Given the description of an element on the screen output the (x, y) to click on. 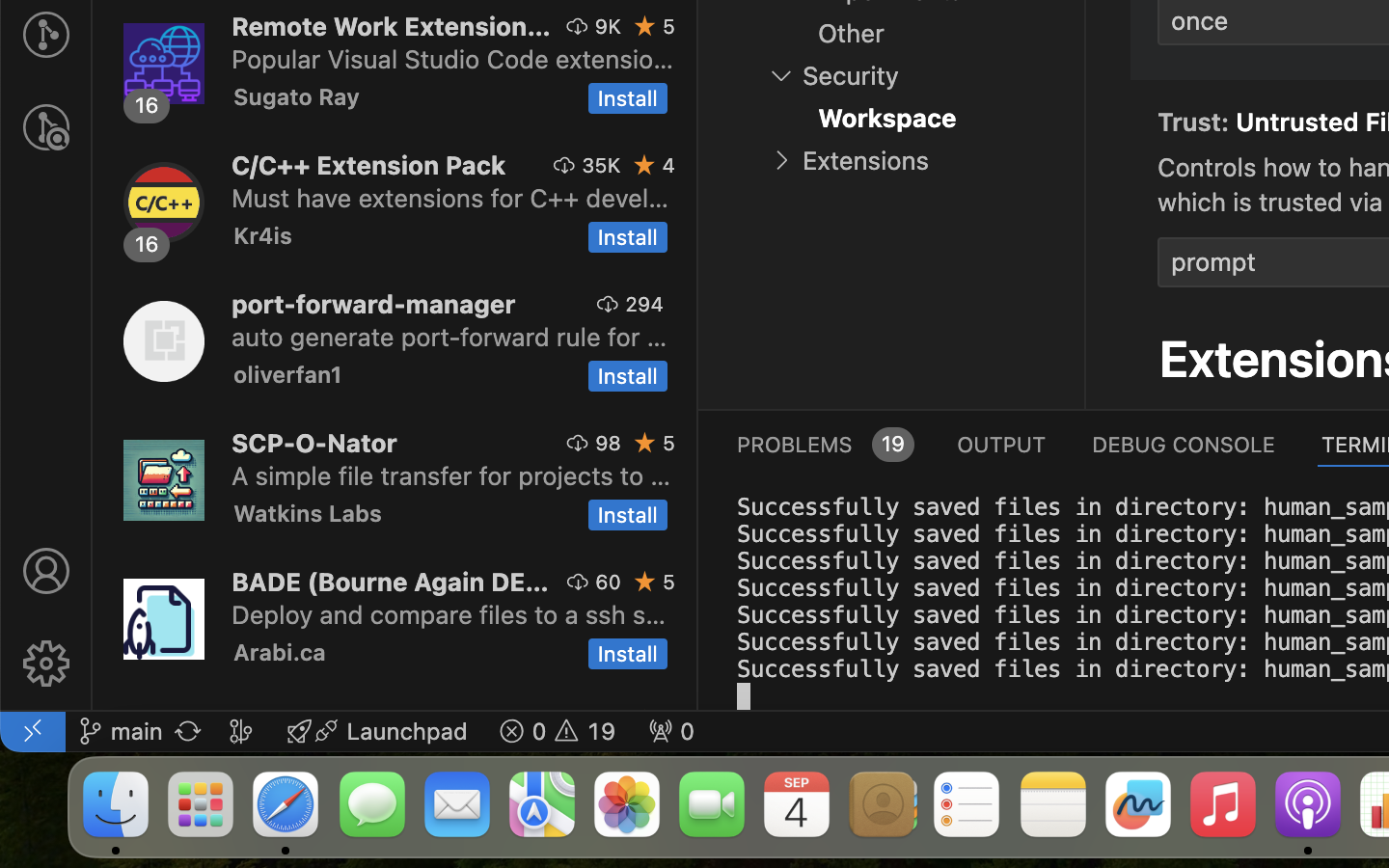
Security Element type: AXStaticText (850, 75)
 0 Element type: AXButton (671, 730)
oliverfan1 Element type: AXStaticText (288, 373)
Remote Work Extension Pack Element type: AXStaticText (391, 25)
35K Element type: AXStaticText (601, 164)
